Given the description of an element on the screen output the (x, y) to click on. 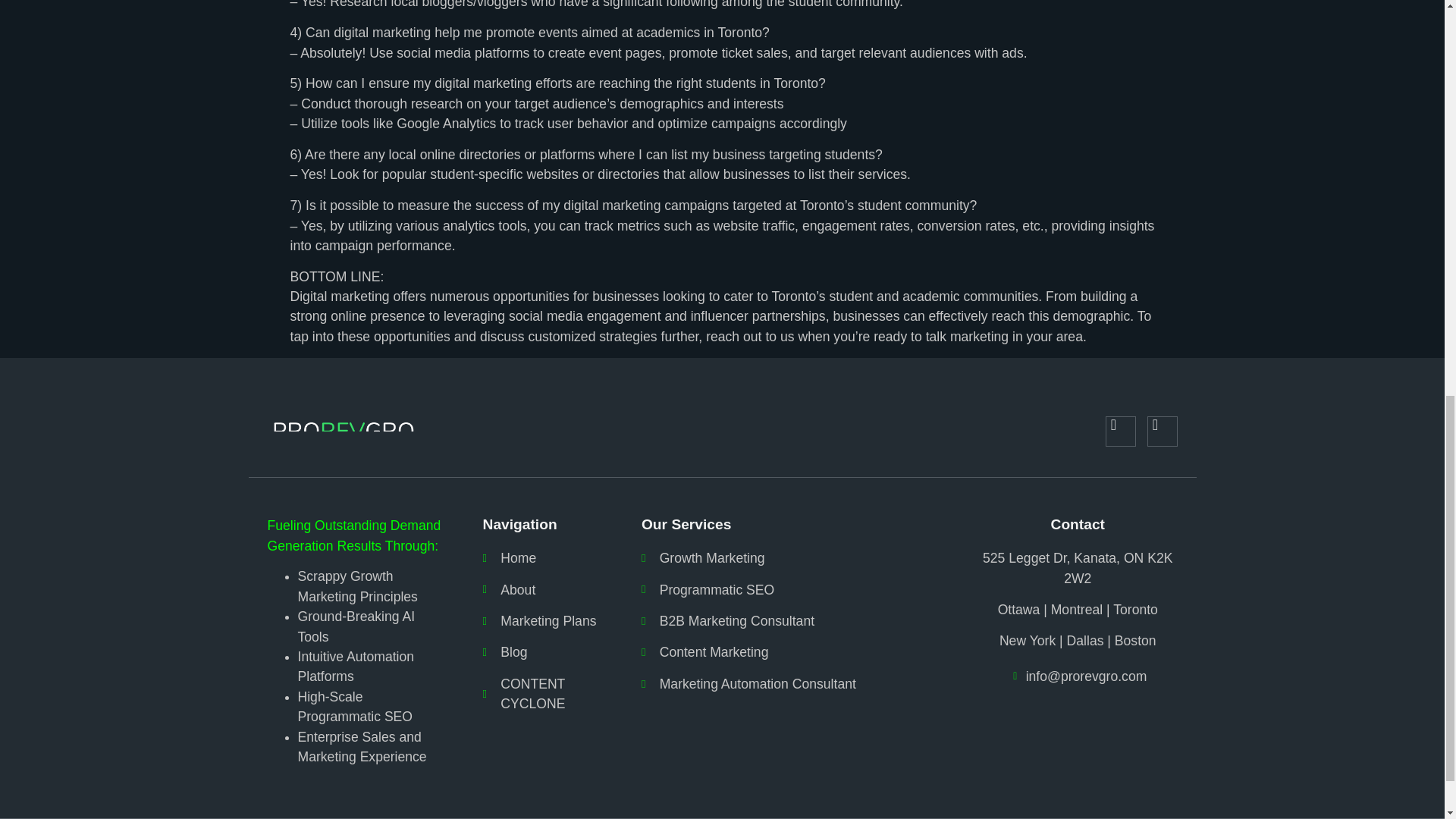
Programmatic SEO (791, 589)
B2B Marketing Consultant (791, 620)
CONTENT CYCLONE (543, 694)
About (543, 589)
Home (543, 557)
Marketing Automation Consultant (791, 683)
Blog (543, 651)
Marketing Plans (543, 620)
Growth Marketing (791, 557)
Content Marketing (791, 651)
